Given the description of an element on the screen output the (x, y) to click on. 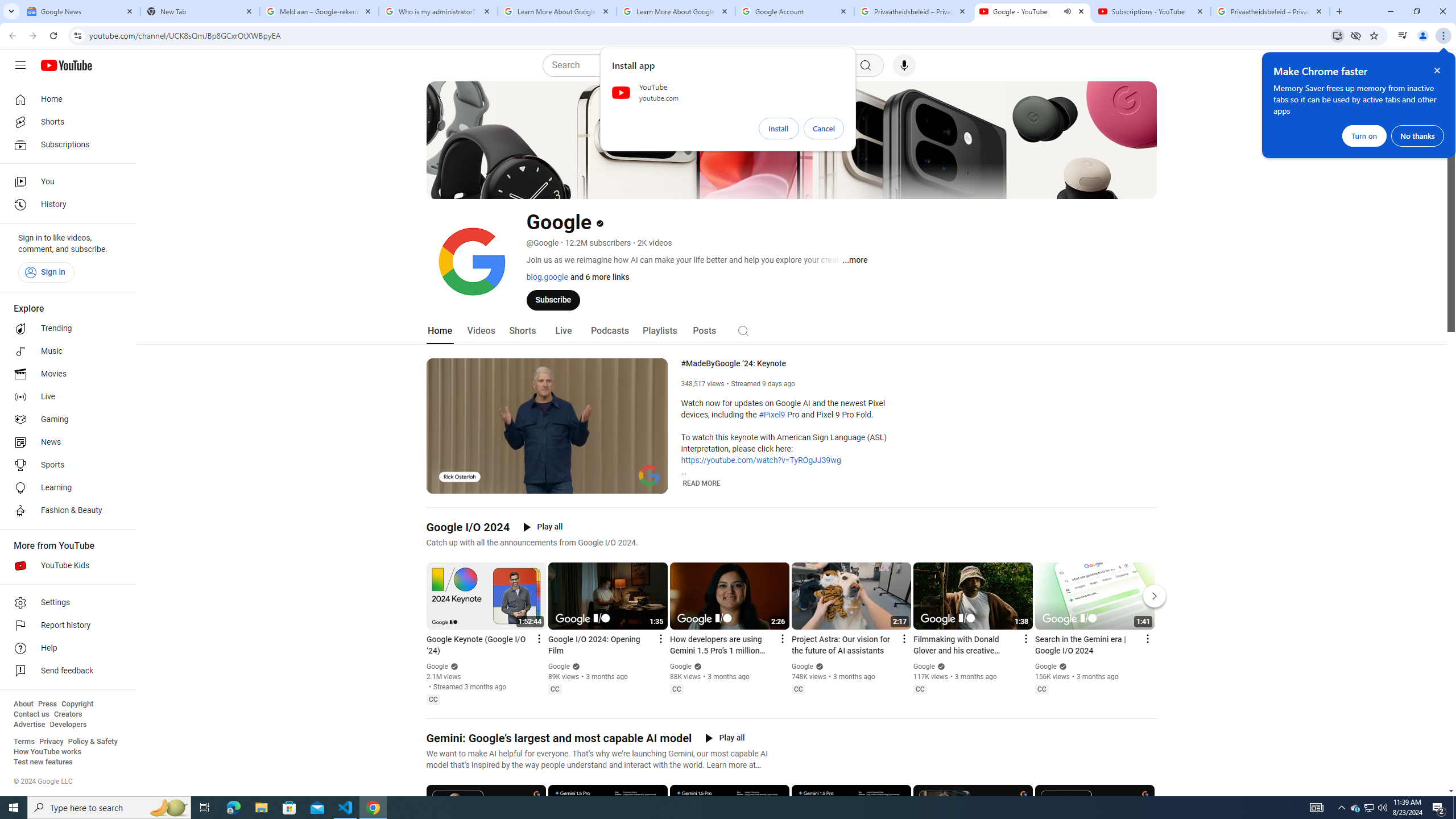
#Pixel9 (771, 414)
Movies (64, 373)
READ MORE (701, 483)
Google I/O 2024 (467, 526)
